Given the description of an element on the screen output the (x, y) to click on. 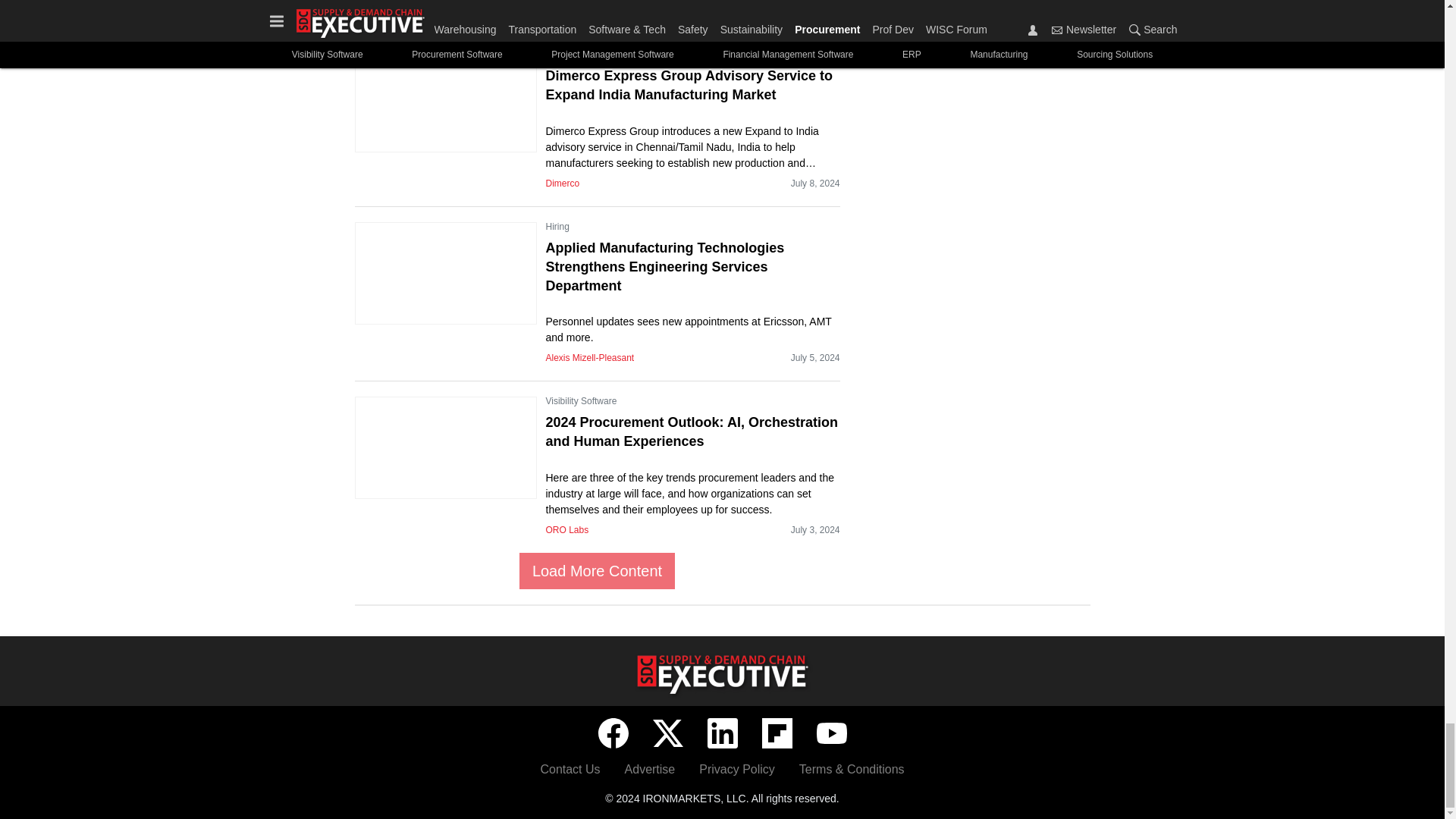
LinkedIn icon (721, 733)
YouTube icon (830, 733)
Twitter X icon (667, 733)
Facebook icon (611, 733)
Flipboard icon (776, 733)
